Given the description of an element on the screen output the (x, y) to click on. 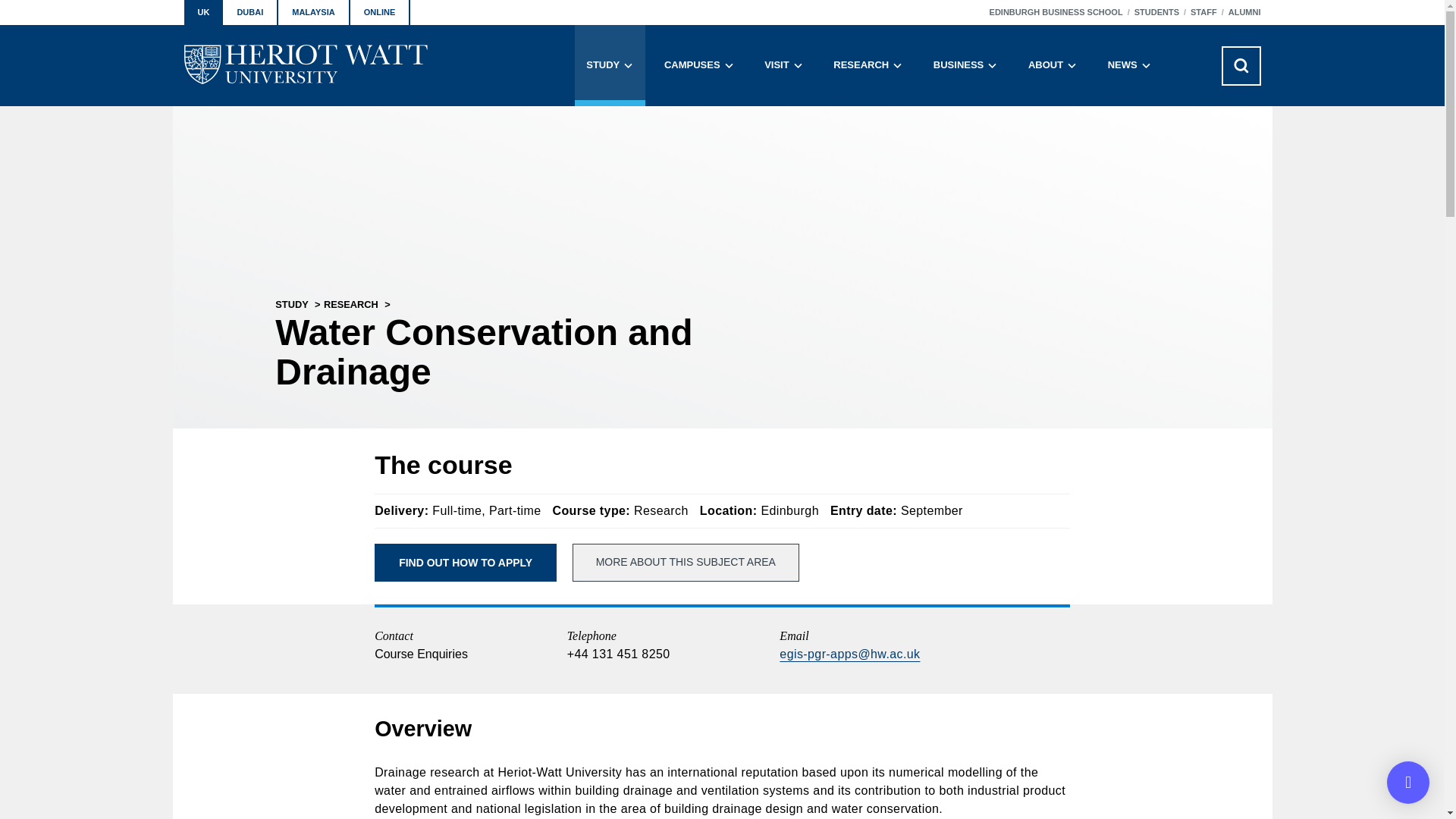
DUBAI (250, 12)
MALAYSIA (313, 12)
ALUMNI (1244, 12)
STUDENTS (1156, 12)
EDINBURGH BUSINESS SCHOOL (1056, 12)
STAFF (1204, 12)
ONLINE (380, 12)
UK (202, 12)
